Given the description of an element on the screen output the (x, y) to click on. 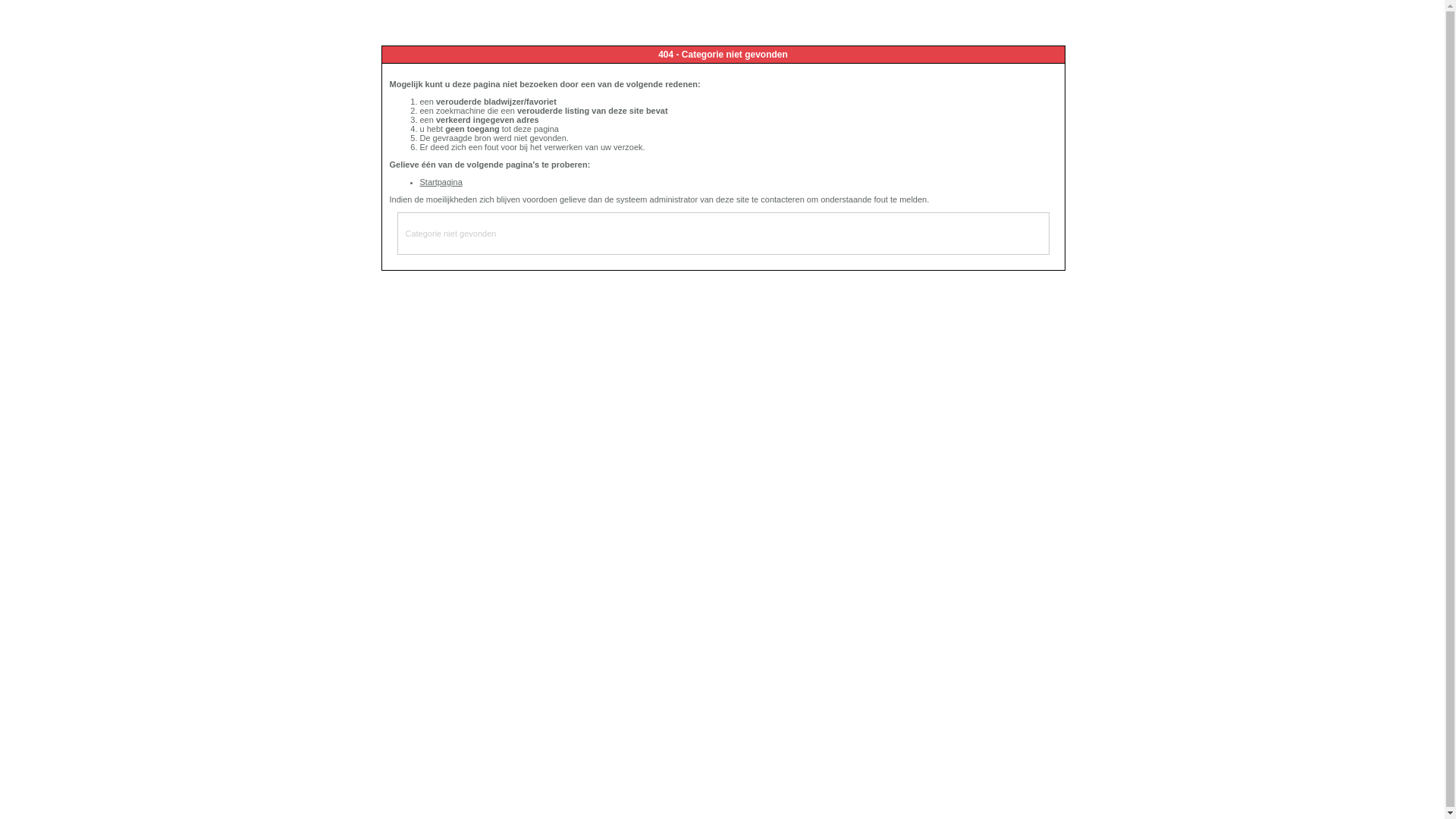
Startpagina Element type: text (441, 181)
